Given the description of an element on the screen output the (x, y) to click on. 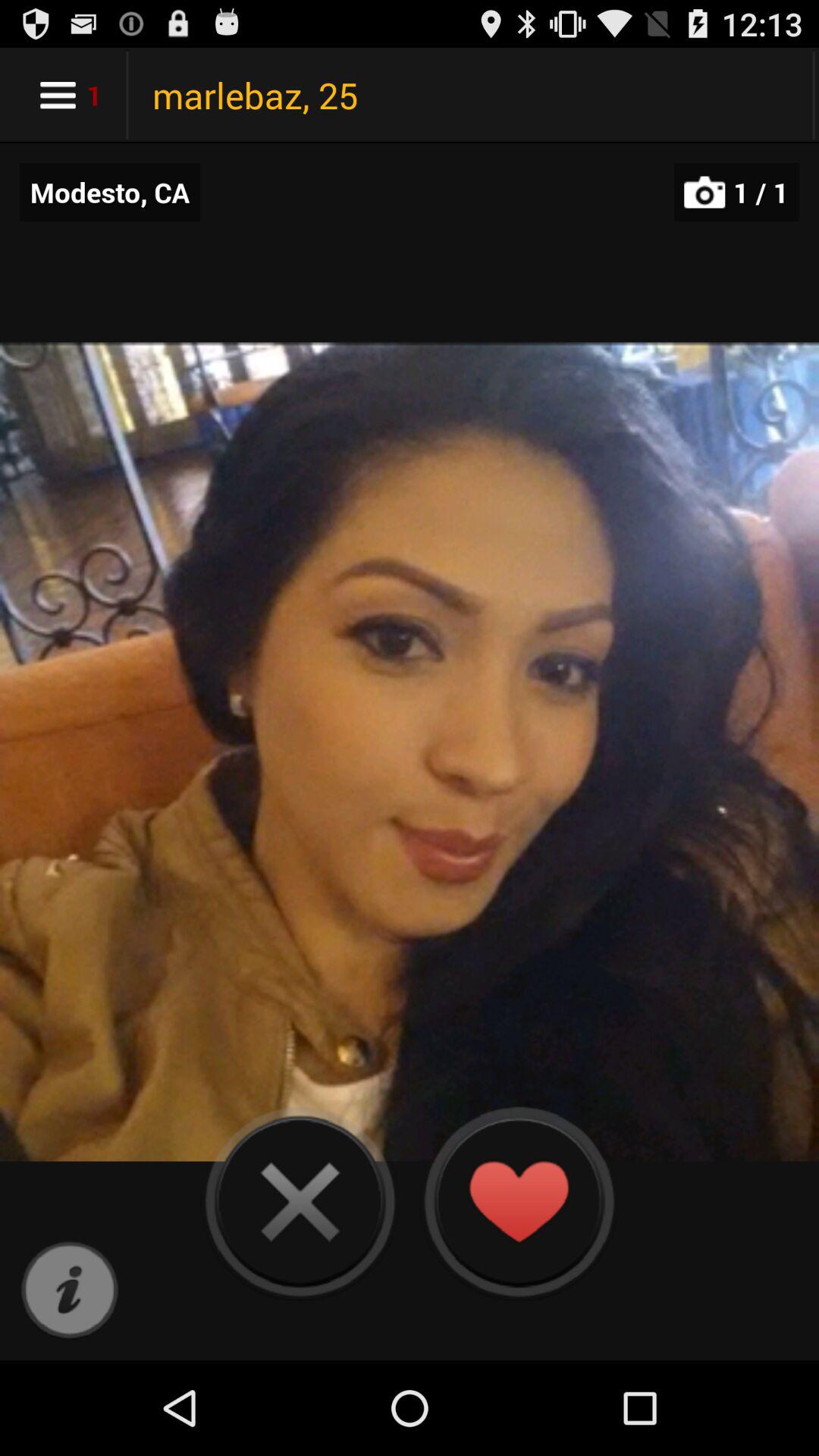
like the photo (518, 1200)
